Given the description of an element on the screen output the (x, y) to click on. 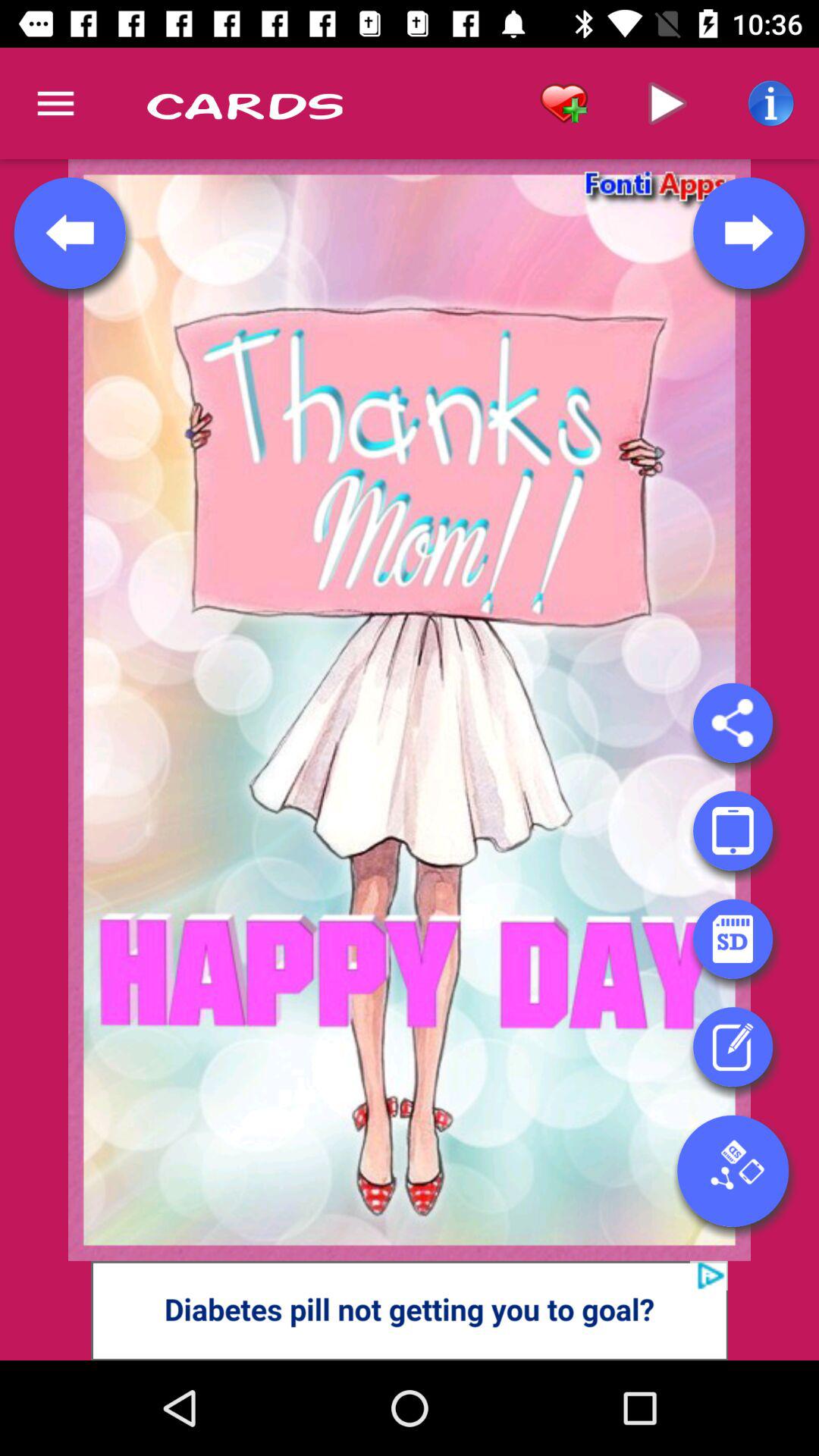
open advertisement (409, 1310)
